Given the description of an element on the screen output the (x, y) to click on. 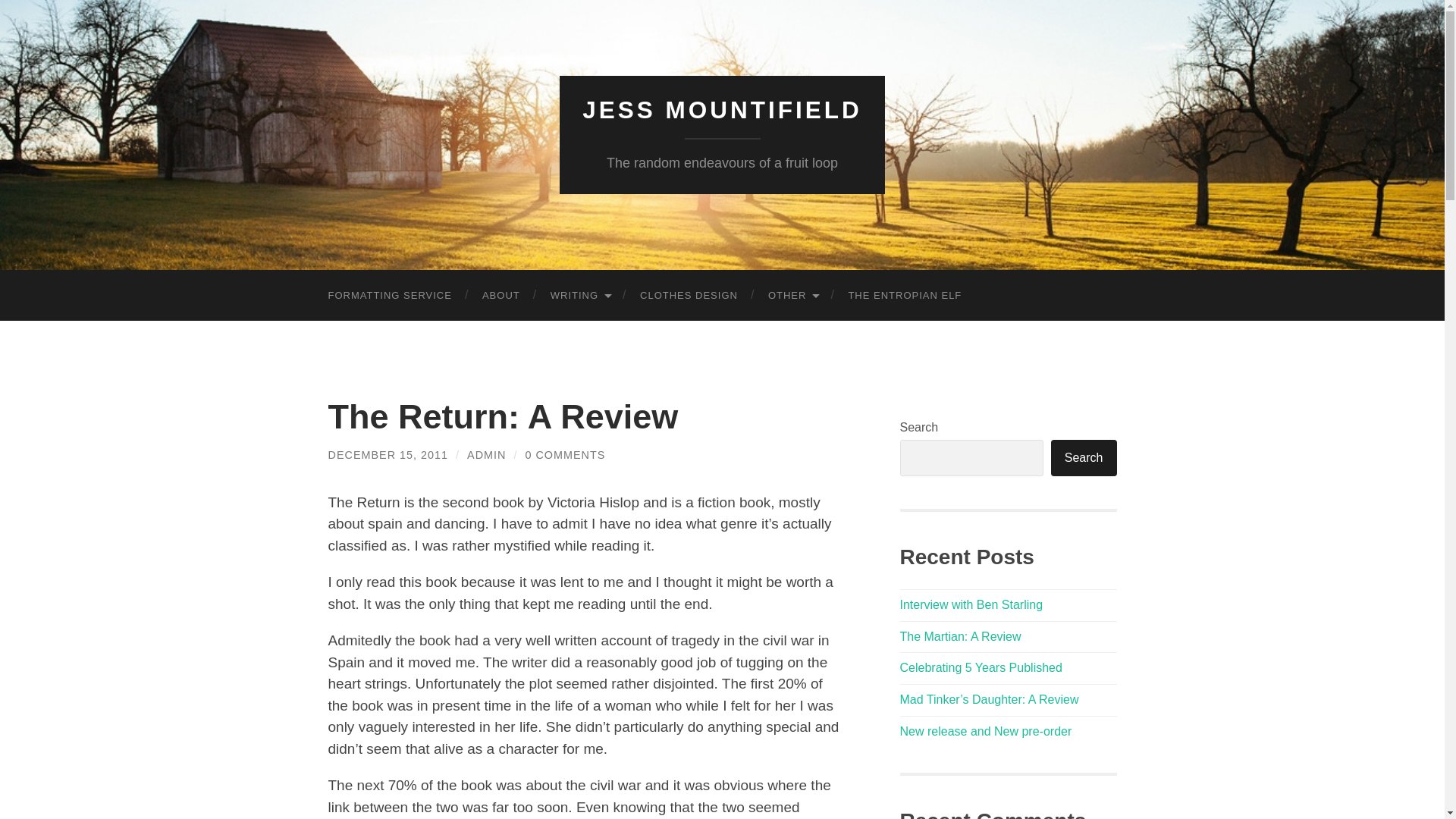
Posts by admin (486, 454)
WRITING (579, 295)
ABOUT (501, 295)
CLOTHES DESIGN (688, 295)
FORMATTING SERVICE (389, 295)
OTHER (792, 295)
JESS MOUNTIFIELD (721, 109)
THE ENTROPIAN ELF (904, 295)
